Given the description of an element on the screen output the (x, y) to click on. 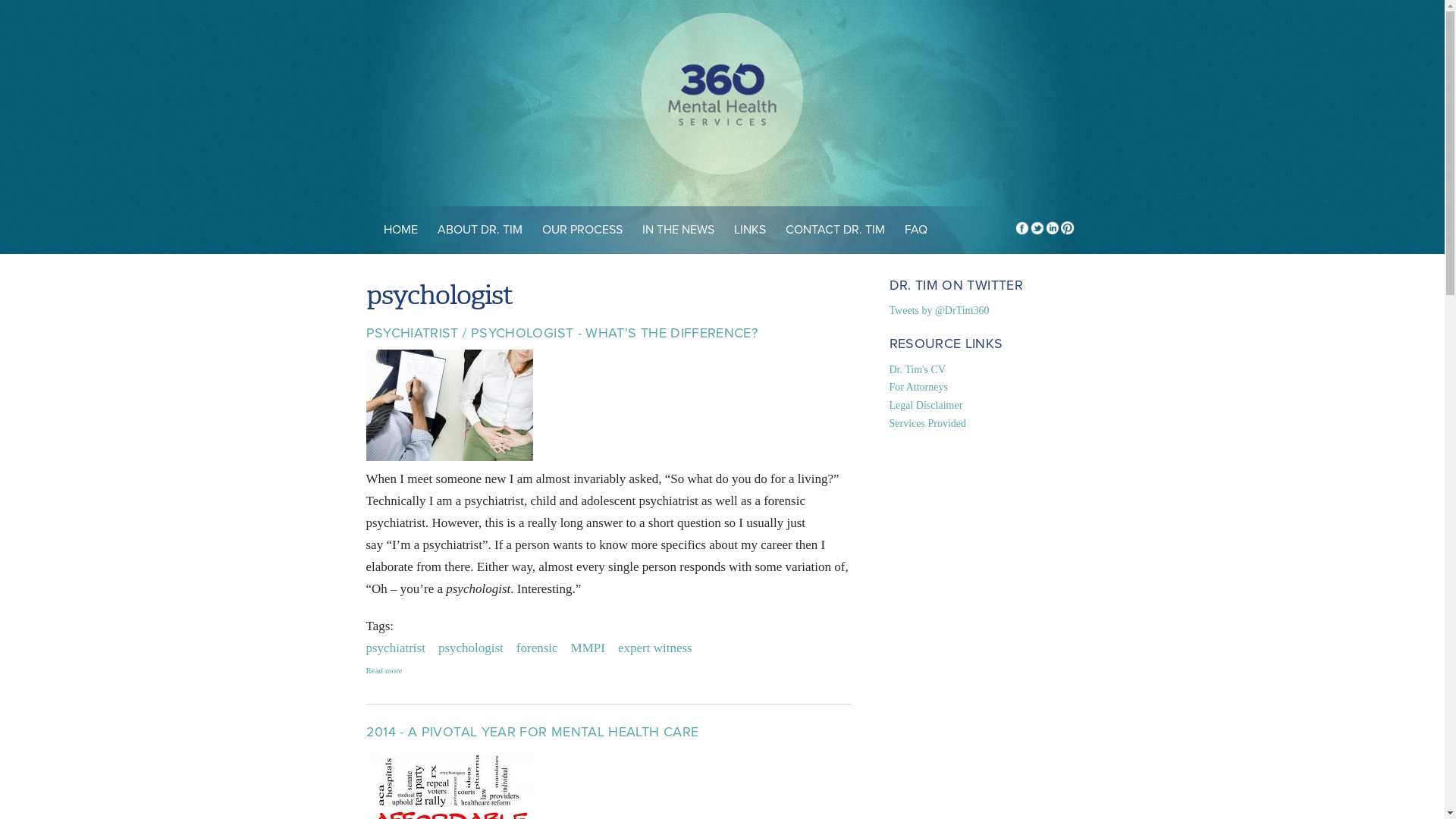
ABOUT DR. TIM Element type: text (479, 230)
Dr. Tim's CV Element type: text (916, 369)
forensic Element type: text (537, 647)
PSYCHIATRIST / PSYCHOLOGIST - WHAT'S THE DIFFERENCE? Element type: text (561, 332)
Services Provided Element type: text (926, 423)
MMPI Element type: text (588, 647)
For Attorneys Element type: text (917, 386)
2014 - A PIVOTAL YEAR FOR MENTAL HEALTH CARE Element type: text (531, 731)
Legal Disclaimer Element type: text (925, 405)
Skip to main content Element type: text (53, 0)
Home Element type: hover (722, 97)
IN THE NEWS Element type: text (678, 230)
psychiatrist Element type: text (394, 647)
psychologist Element type: text (470, 647)
Tweets by @DrTim360 Element type: text (938, 310)
expert witness Element type: text (655, 647)
LINKS Element type: text (749, 230)
OUR PROCESS Element type: text (582, 230)
CONTACT DR. TIM Element type: text (834, 230)
HOME Element type: text (399, 230)
FAQ Element type: text (915, 230)
